Given the description of an element on the screen output the (x, y) to click on. 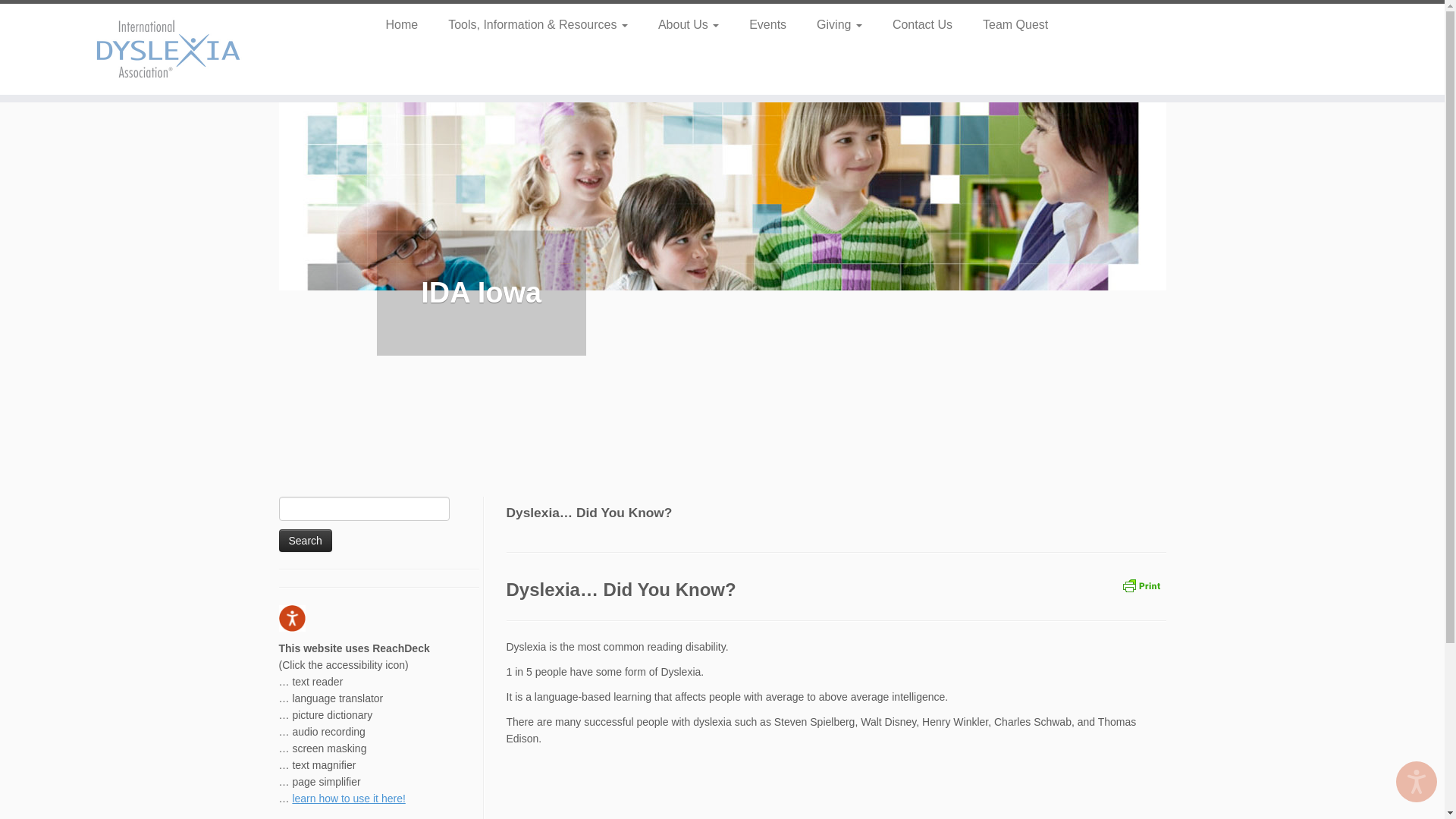
Team Quest (1008, 24)
Search (305, 540)
Events (767, 24)
Contact Us (922, 24)
Listen with the ReachDeck Toolbar (1416, 781)
learn how to use it here! (348, 798)
Search (305, 540)
About Us (688, 24)
Giving (839, 24)
Home (406, 24)
